Given the description of an element on the screen output the (x, y) to click on. 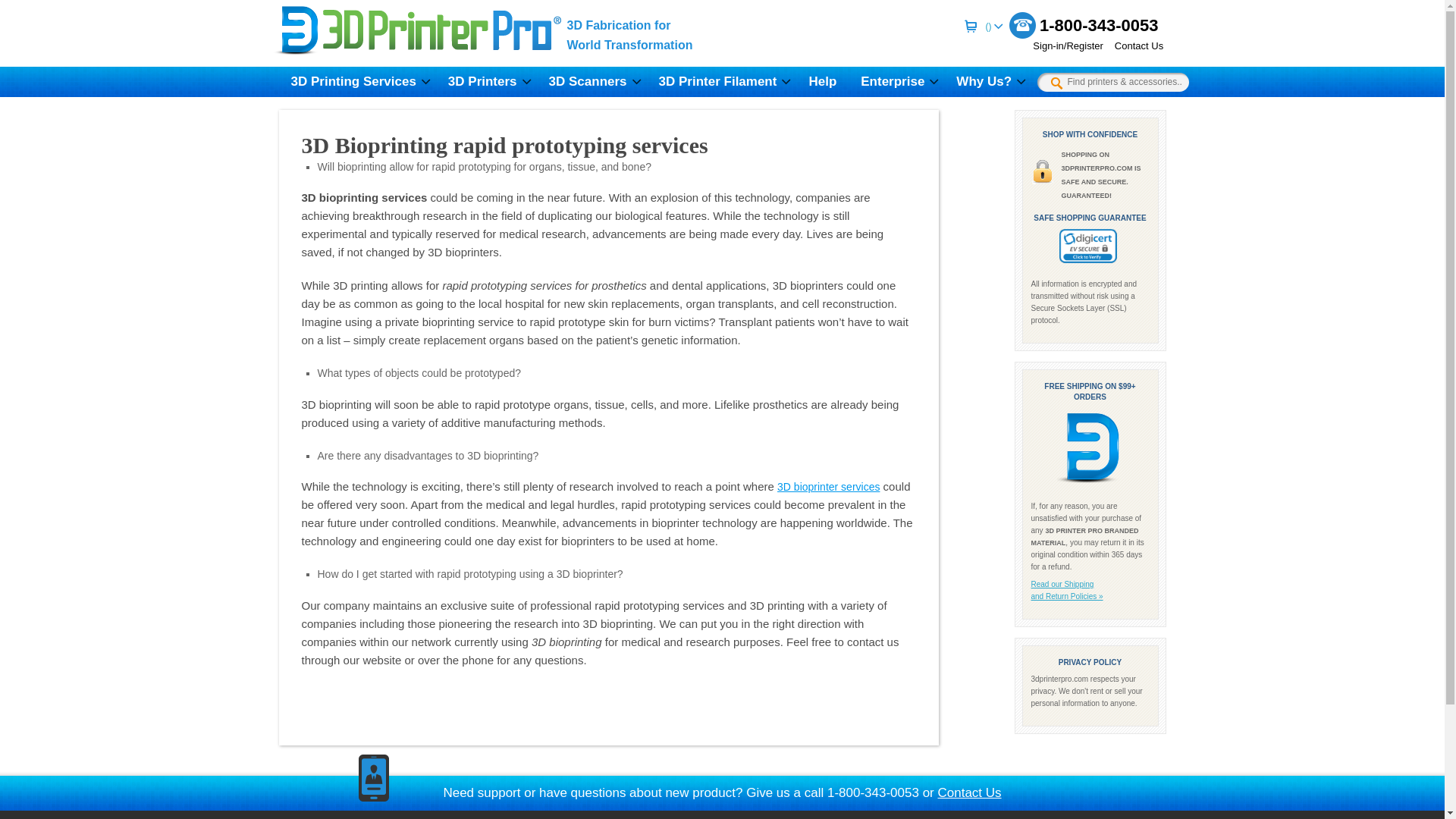
Why Us? (986, 81)
3D Scanners (591, 81)
3D Printing Services (357, 81)
Contact Us (1133, 46)
3D Printer Filament (721, 81)
3D Printers (486, 81)
Verified By Digicert (1087, 245)
View your shopping cart (992, 26)
Help (822, 81)
Enterprise (895, 81)
